Given the description of an element on the screen output the (x, y) to click on. 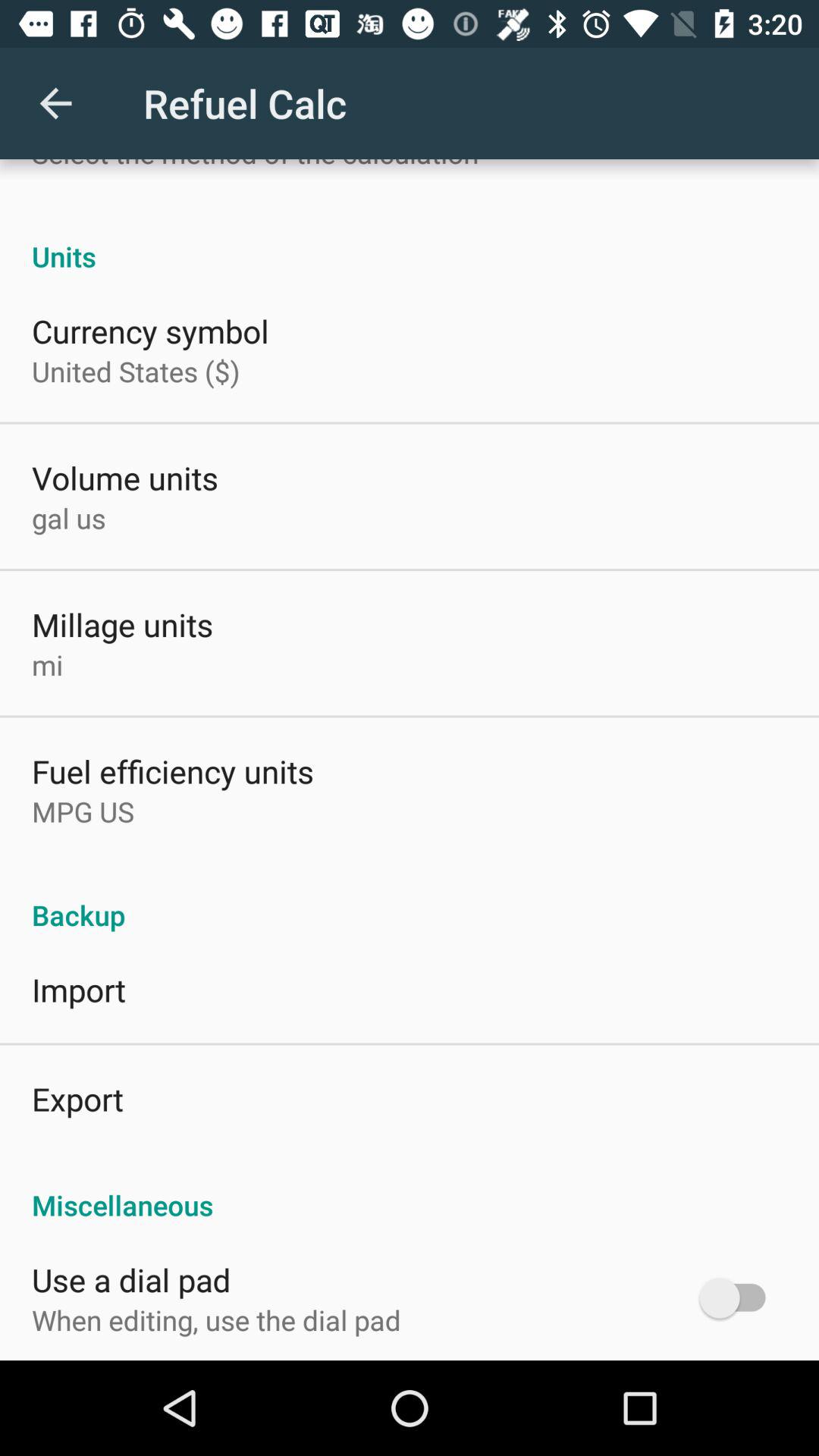
press app above the miscellaneous icon (77, 1098)
